Given the description of an element on the screen output the (x, y) to click on. 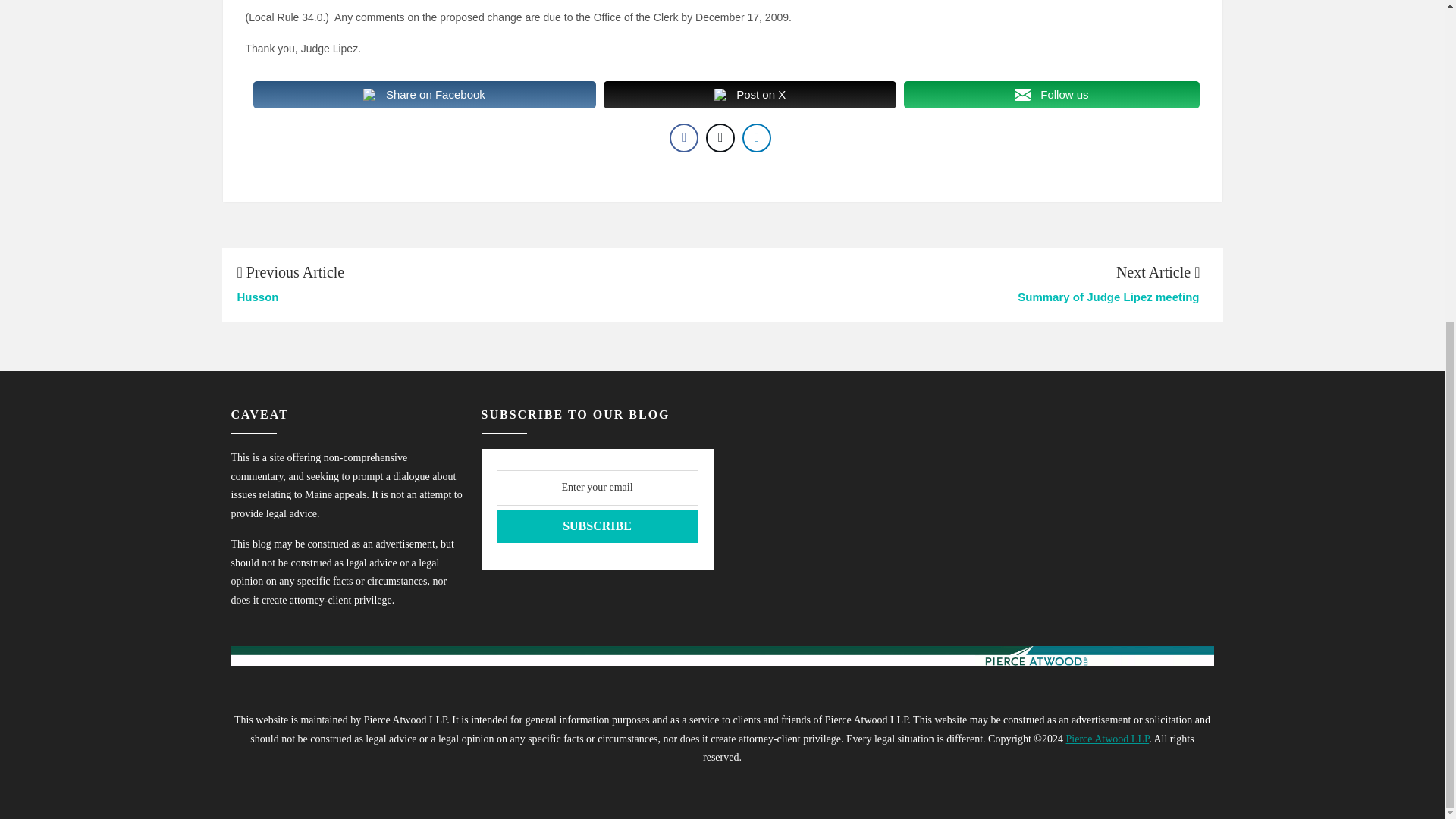
SUBSCRIBE (596, 526)
Husson (474, 297)
SUBSCRIBE (596, 526)
Share on Facebook (424, 94)
Post on X (750, 94)
Pierce Atwood LLP (1107, 738)
Follow us (1051, 94)
Summary of Judge Lipez meeting (960, 297)
